Given the description of an element on the screen output the (x, y) to click on. 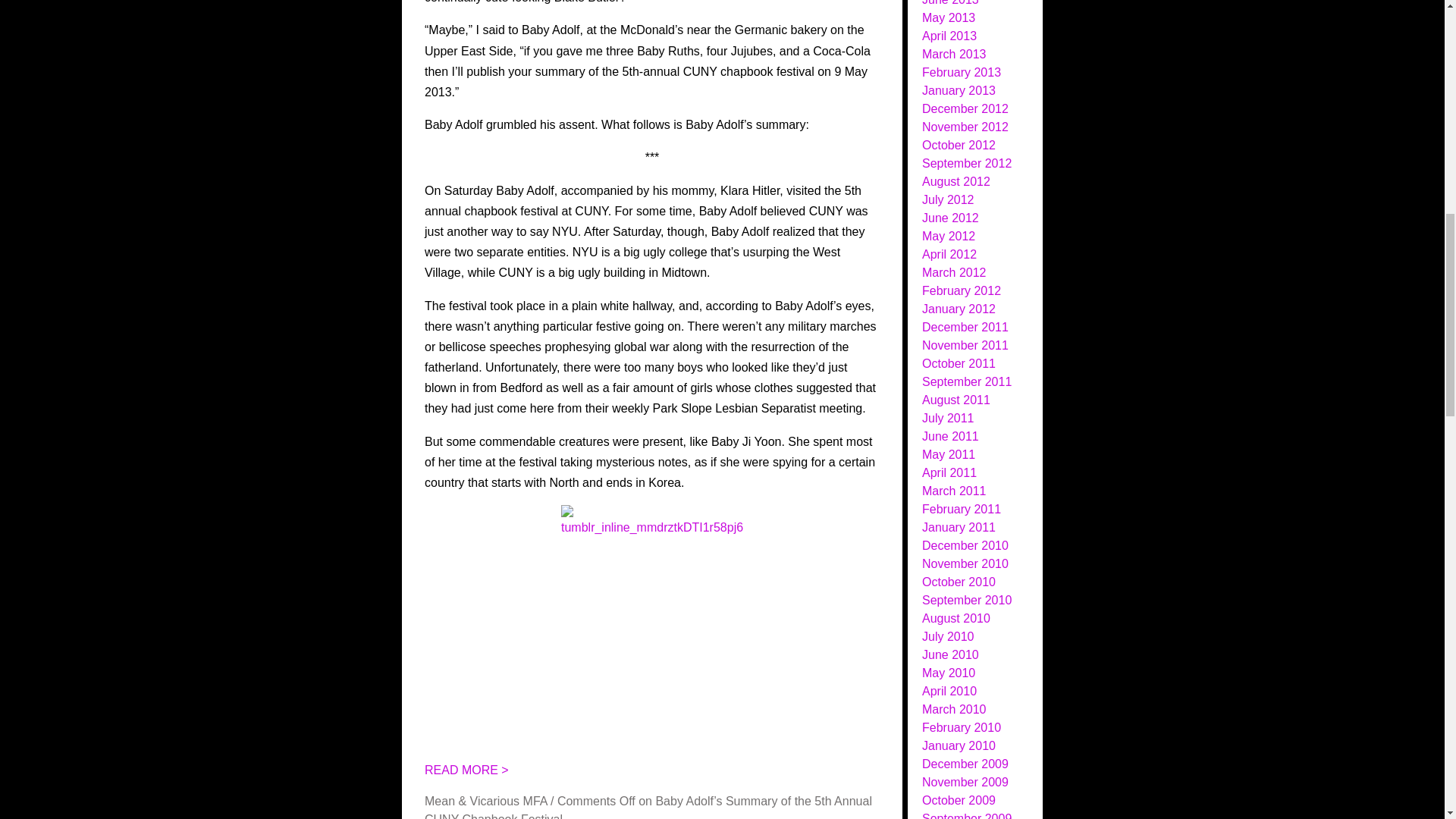
Mean (439, 800)
Vicarious MFA (508, 800)
